Given the description of an element on the screen output the (x, y) to click on. 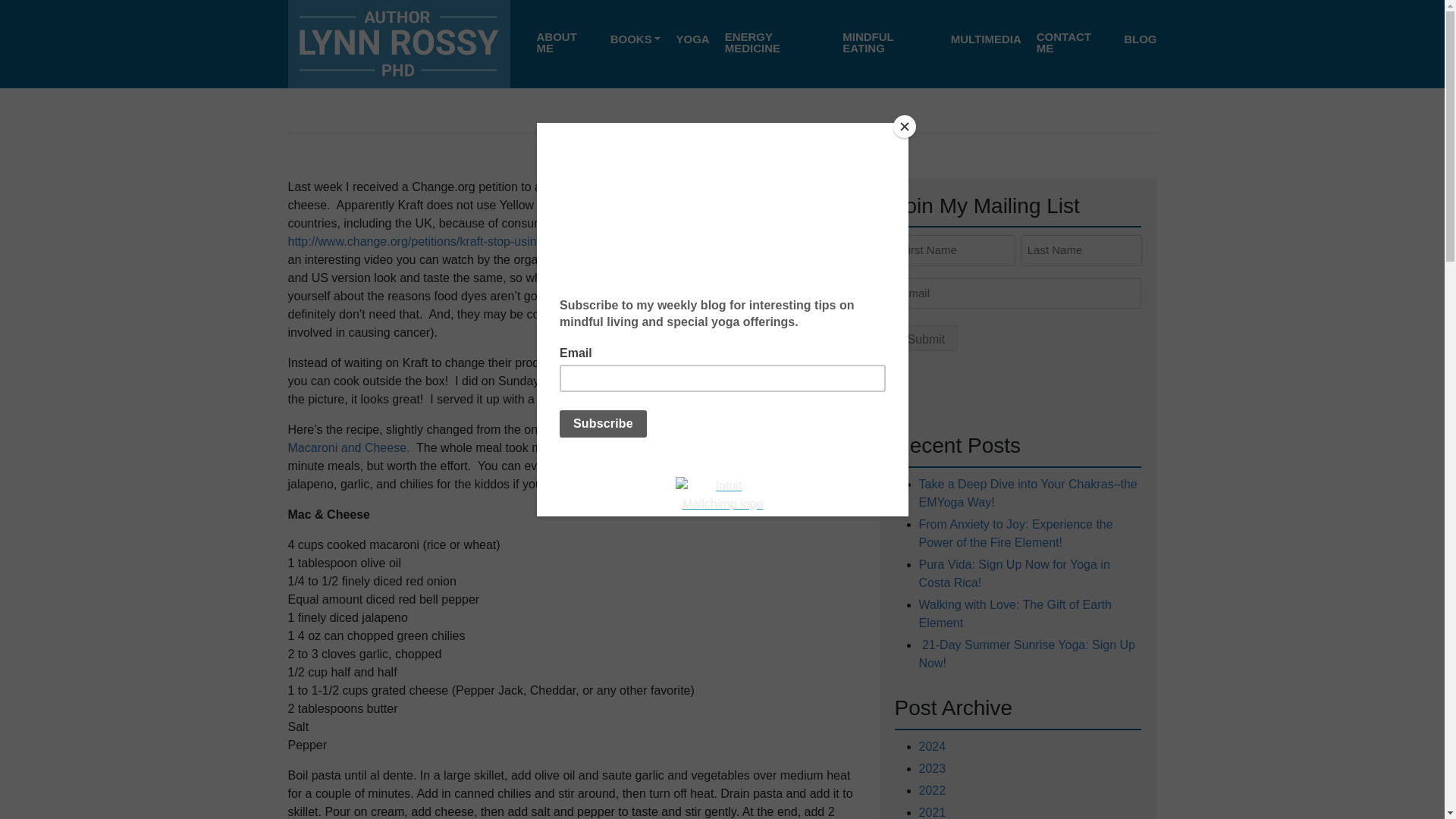
Pura Vida: Sign Up Now for Yoga in Costa Rica! (1013, 572)
BLOG (1140, 39)
2022 (932, 789)
MINDFUL EATING (888, 42)
ABOUT ME (566, 42)
2024 (932, 746)
CONTACT ME (1072, 42)
BOOKS (635, 39)
Submit (926, 338)
YOGA (692, 39)
